Given the description of an element on the screen output the (x, y) to click on. 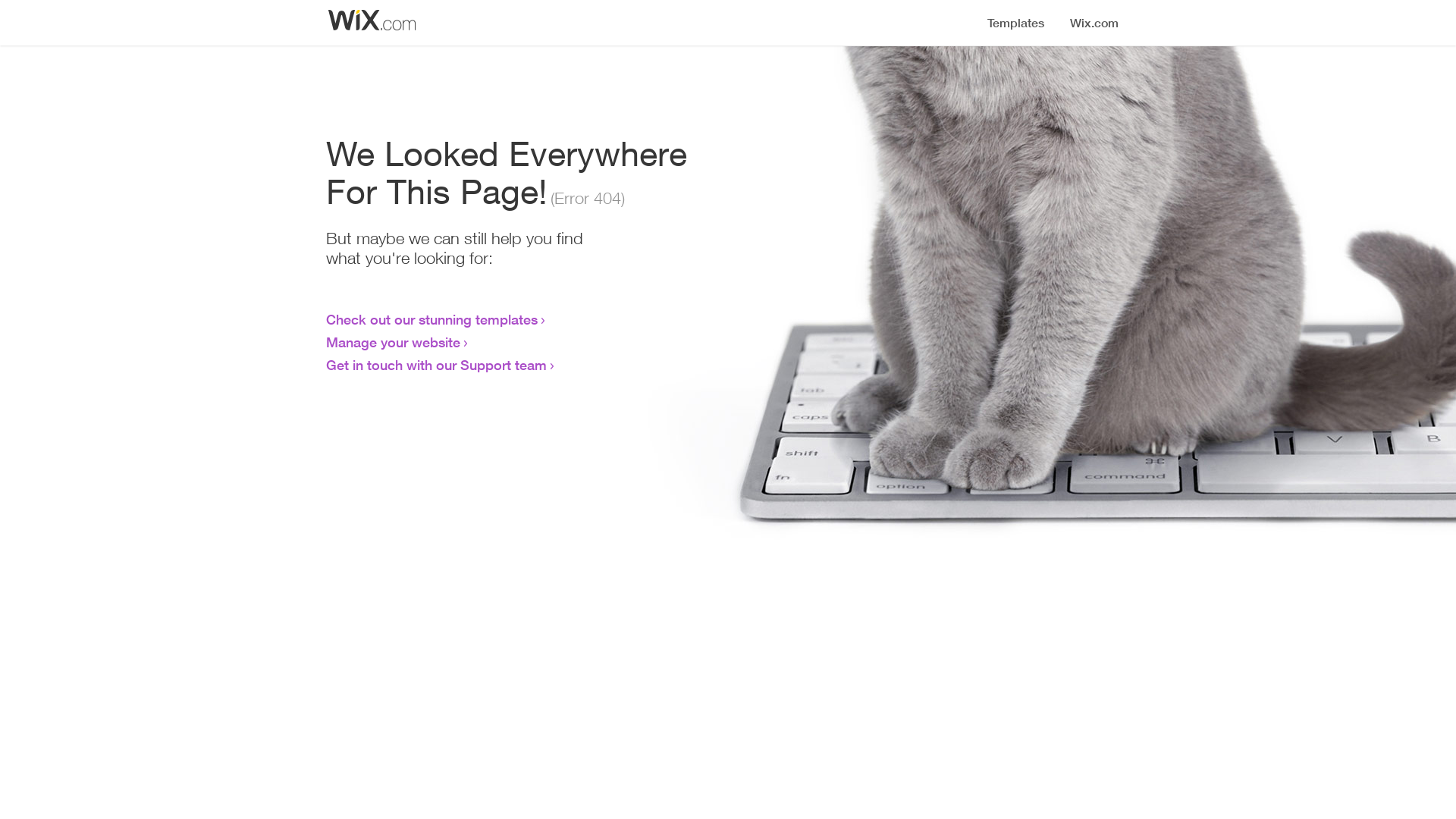
Get in touch with our Support team Element type: text (436, 364)
Check out our stunning templates Element type: text (431, 318)
Manage your website Element type: text (393, 341)
